Given the description of an element on the screen output the (x, y) to click on. 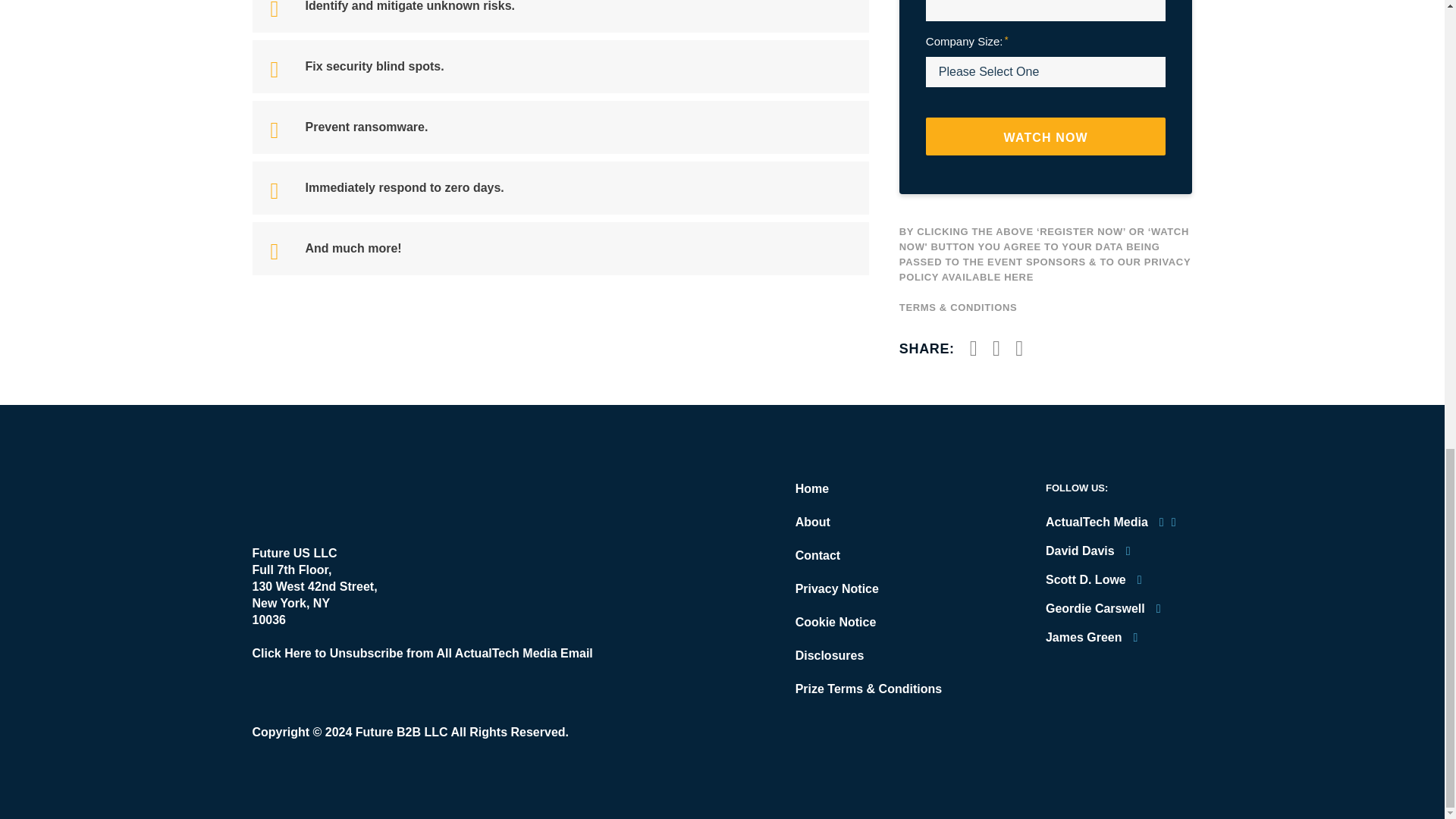
Contact (817, 554)
Privacy Notice (836, 588)
About (811, 521)
Disclosures (829, 655)
Cookie Notice (835, 621)
Home (811, 488)
ActualTech Media (336, 497)
Click Here to Unsubscribe from All ActualTech Media Email (421, 653)
WATCH NOW (1046, 136)
Please Select One (1046, 71)
